Given the description of an element on the screen output the (x, y) to click on. 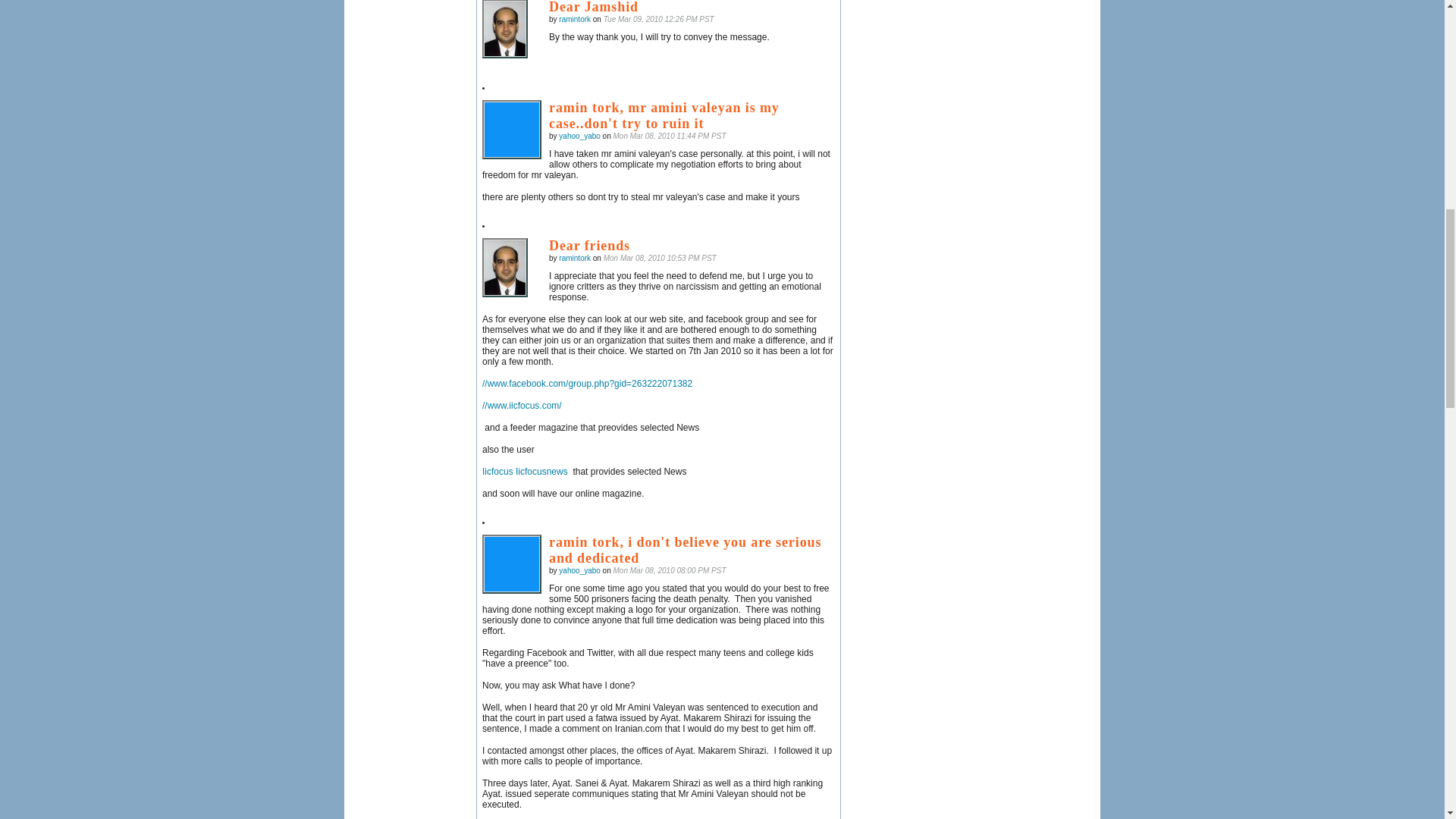
View user profile. (579, 570)
View user profile. (575, 257)
View user profile. (575, 19)
View user profile. (579, 135)
